Given the description of an element on the screen output the (x, y) to click on. 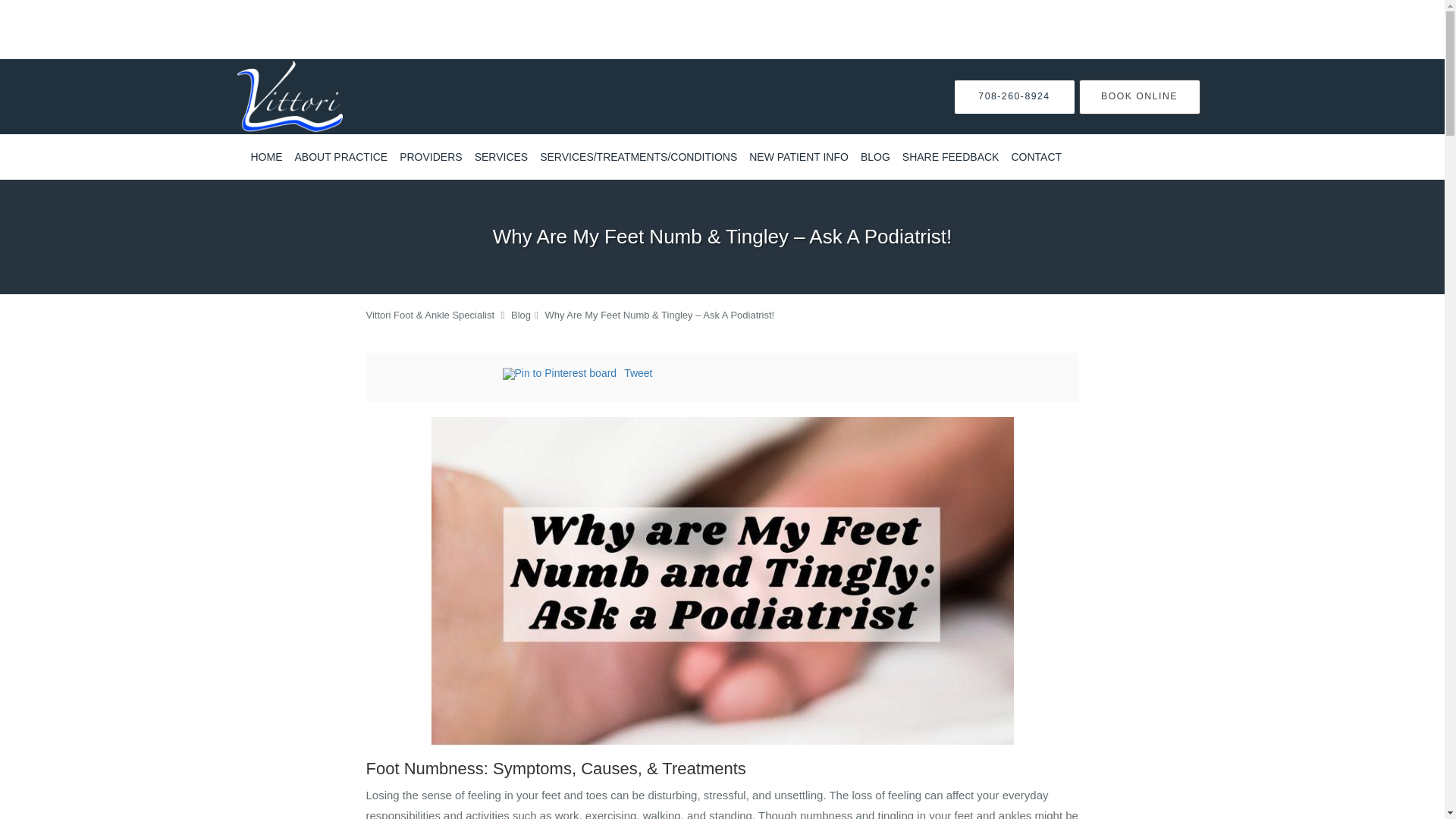
NEW PATIENT INFO (798, 157)
Facebook social button (441, 375)
ABOUT PRACTICE (340, 157)
Blog (521, 315)
708-260-8924 (1014, 95)
CONTACT (1035, 157)
BOOK ONLINE (1138, 95)
PROVIDERS (430, 157)
HOME (266, 157)
SHARE FEEDBACK (951, 157)
